Given the description of an element on the screen output the (x, y) to click on. 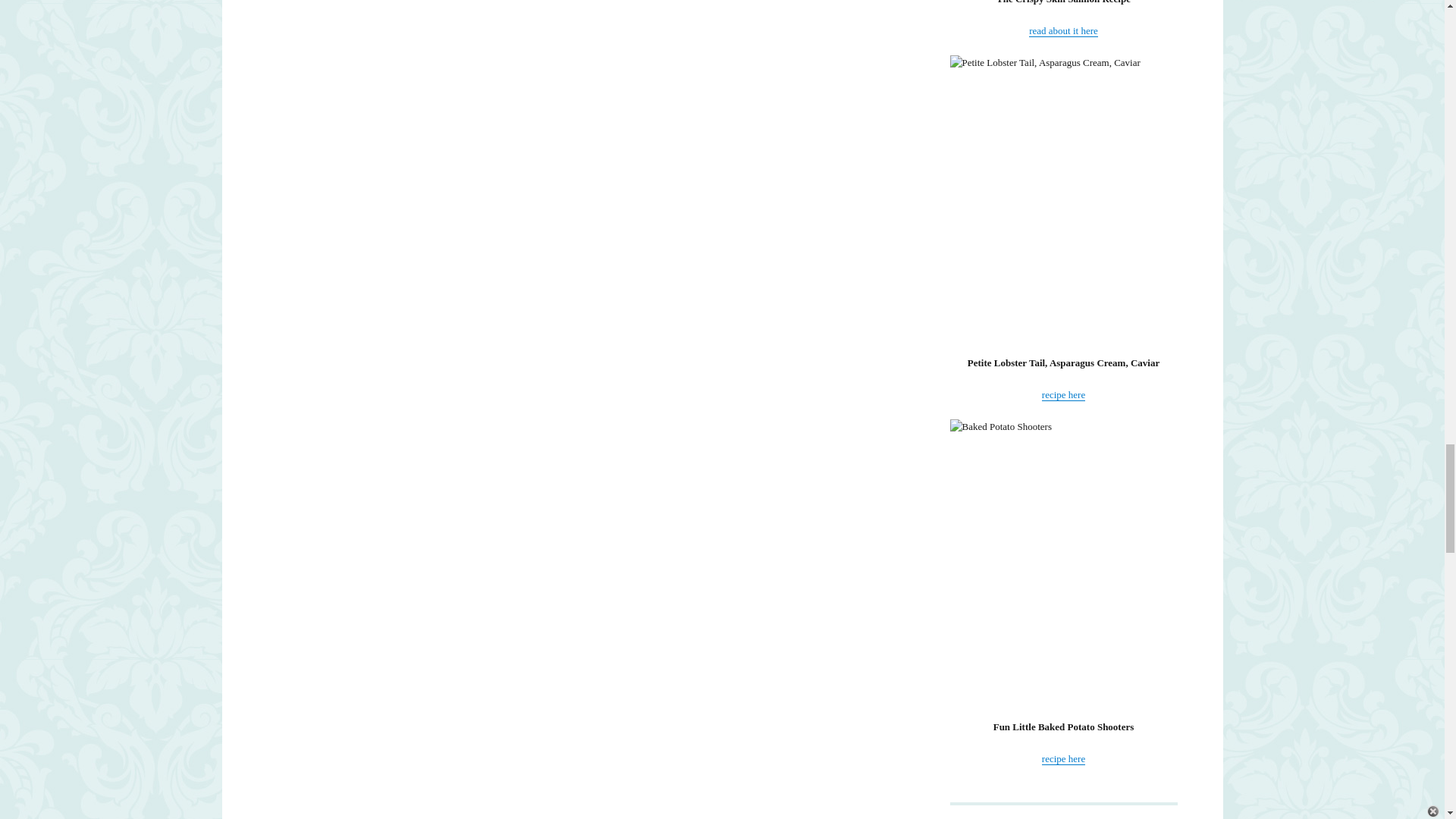
read about it here (1063, 30)
